Given the description of an element on the screen output the (x, y) to click on. 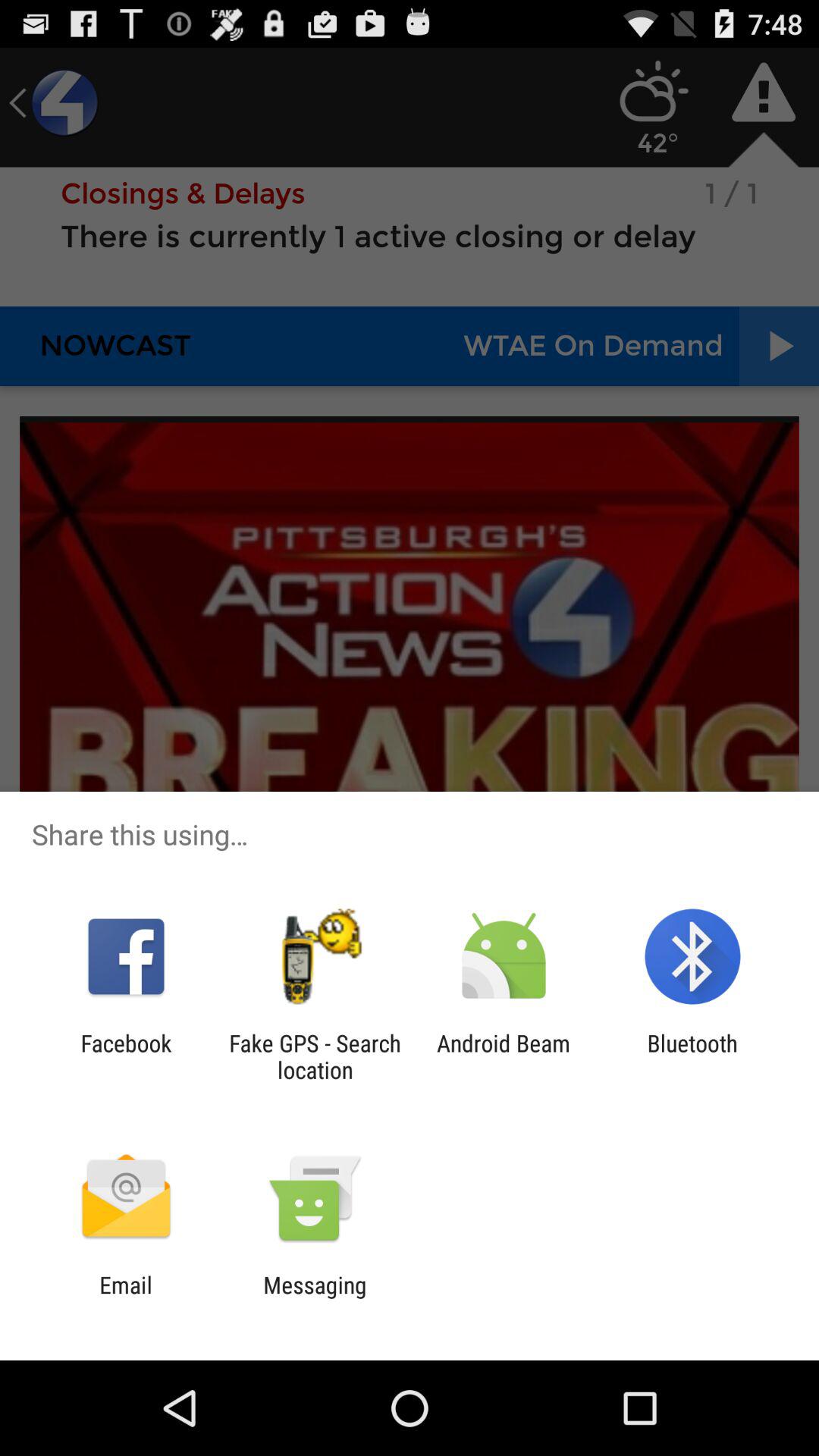
open the app to the right of android beam (692, 1056)
